Given the description of an element on the screen output the (x, y) to click on. 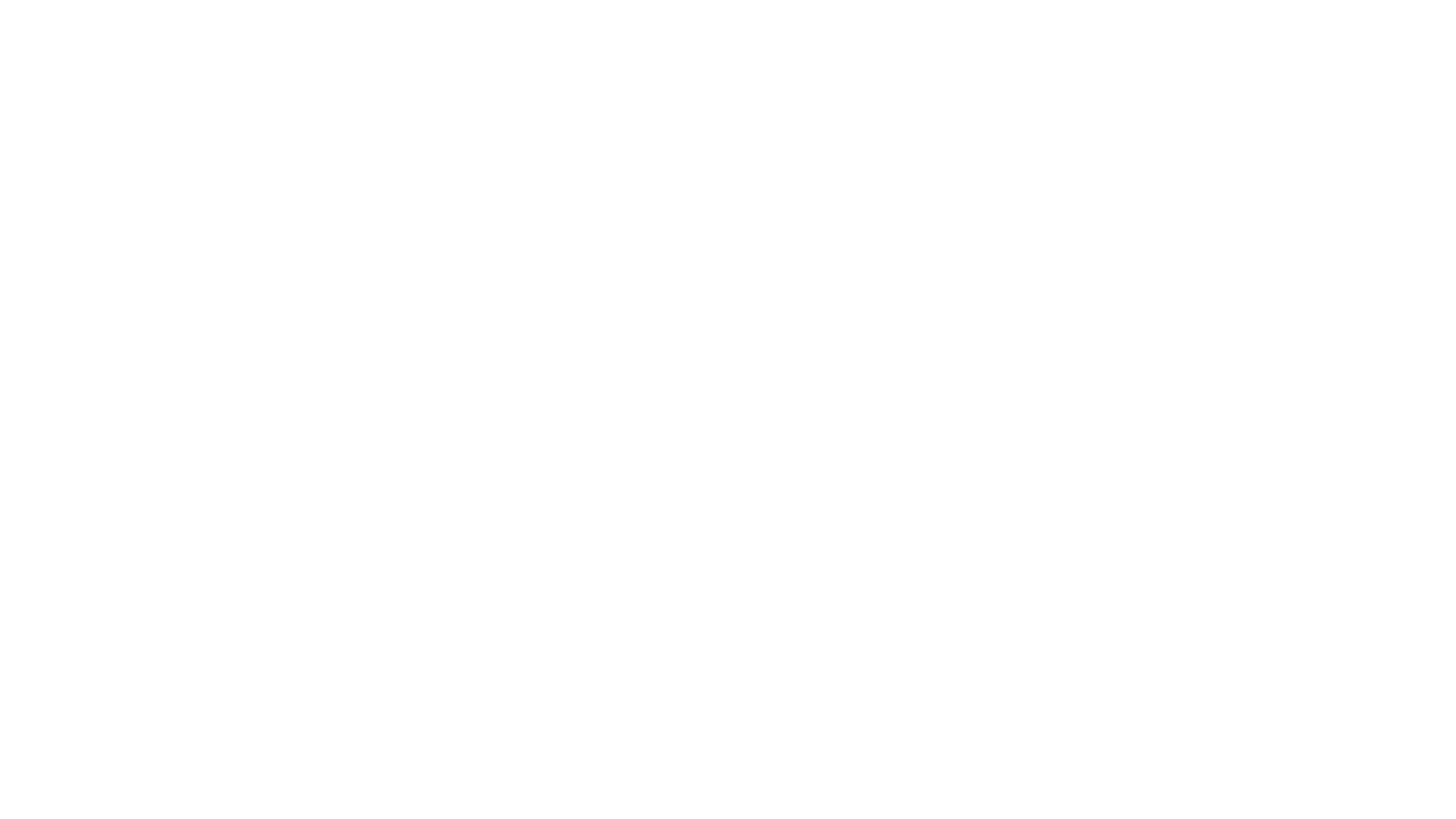
Cloudflare Element type: text (798, 799)
